Given the description of an element on the screen output the (x, y) to click on. 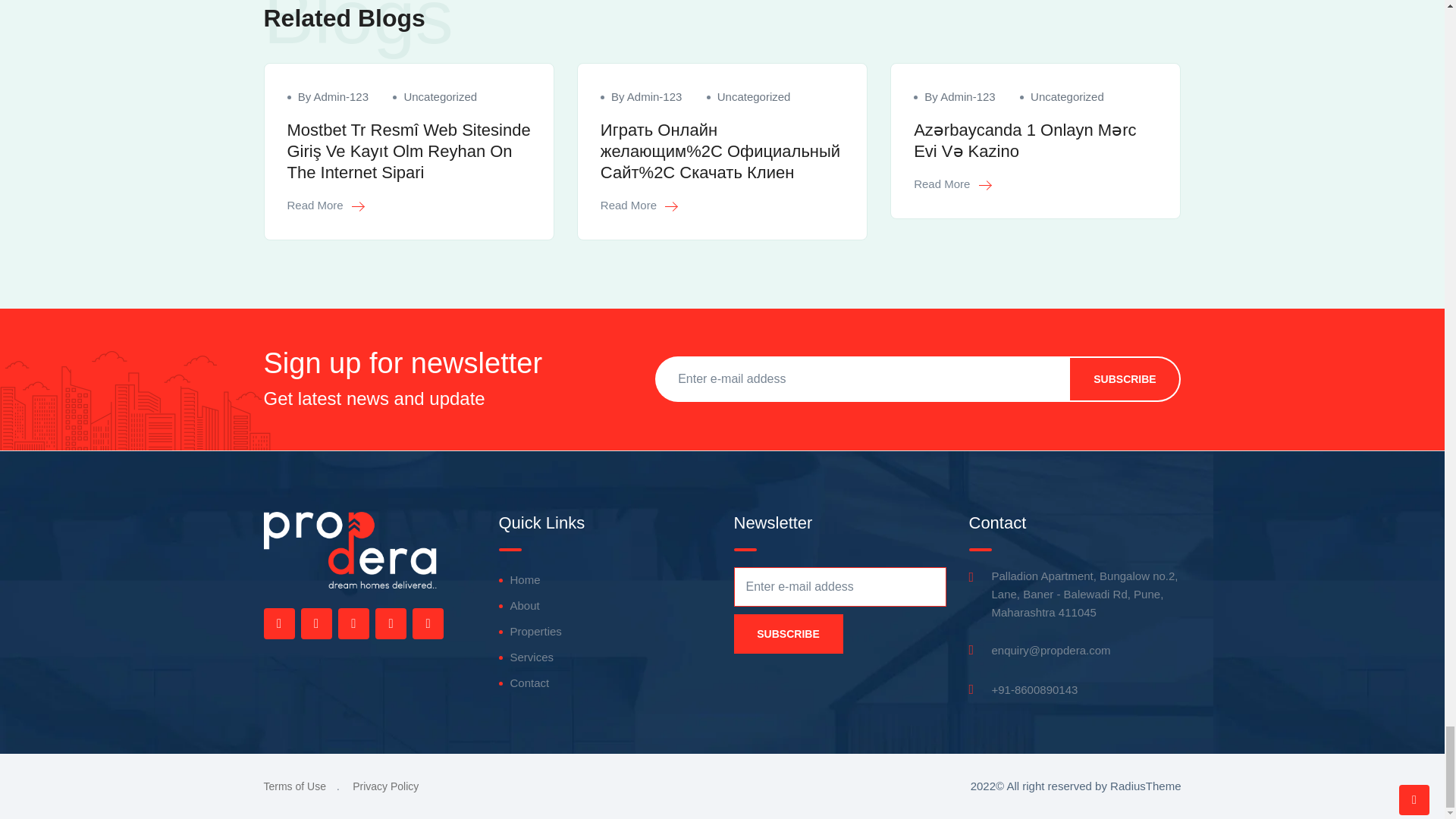
Subscribe (1124, 378)
Subscribe (788, 633)
